Given the description of an element on the screen output the (x, y) to click on. 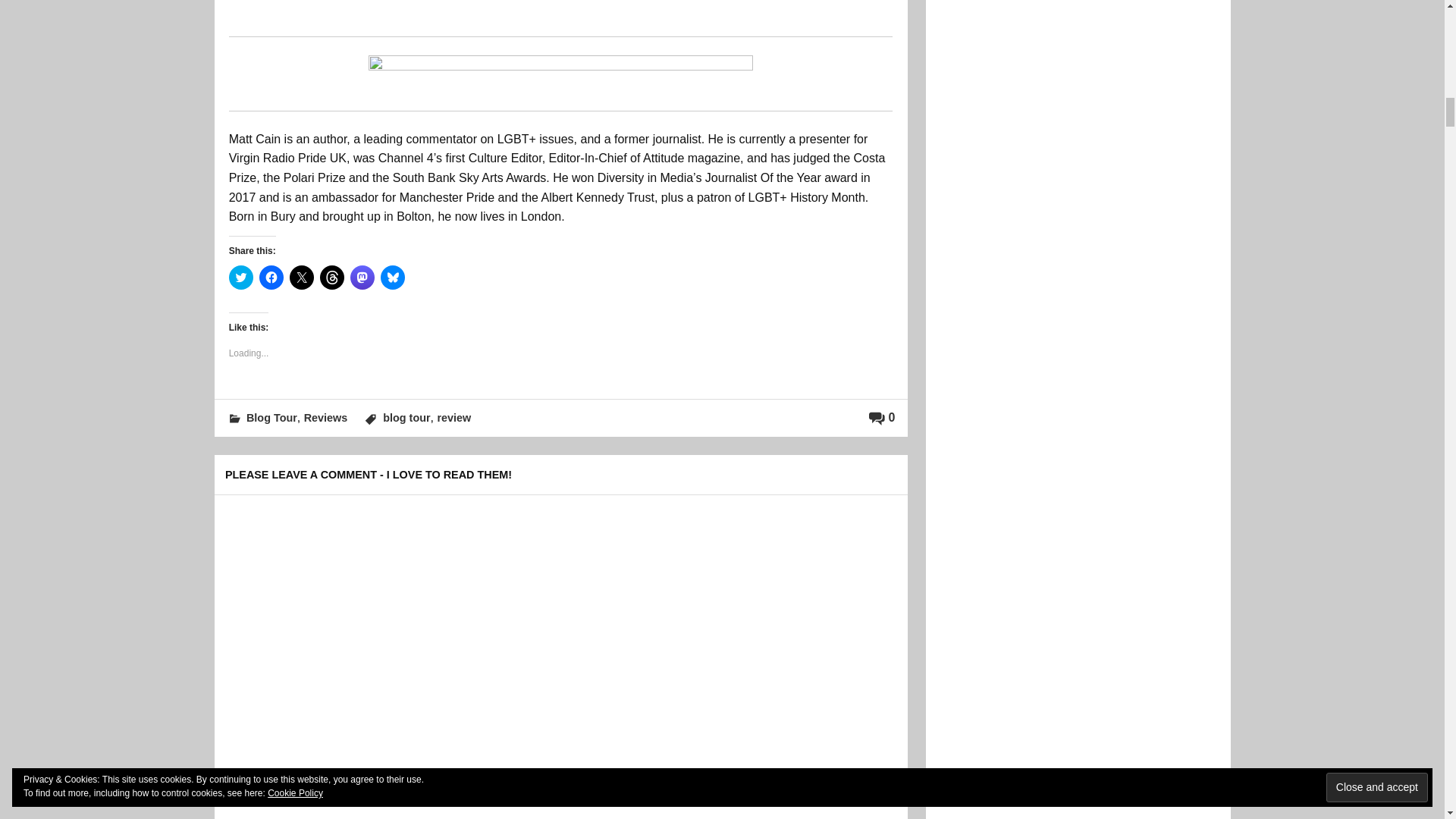
Click to share on Threads (331, 277)
review (453, 417)
Click to share on X (301, 277)
Click to share on Twitter (240, 277)
Blog Tour (271, 417)
Click to share on Facebook (271, 277)
0 (882, 417)
blog tour (405, 417)
Click to share on Bluesky (392, 277)
